Given the description of an element on the screen output the (x, y) to click on. 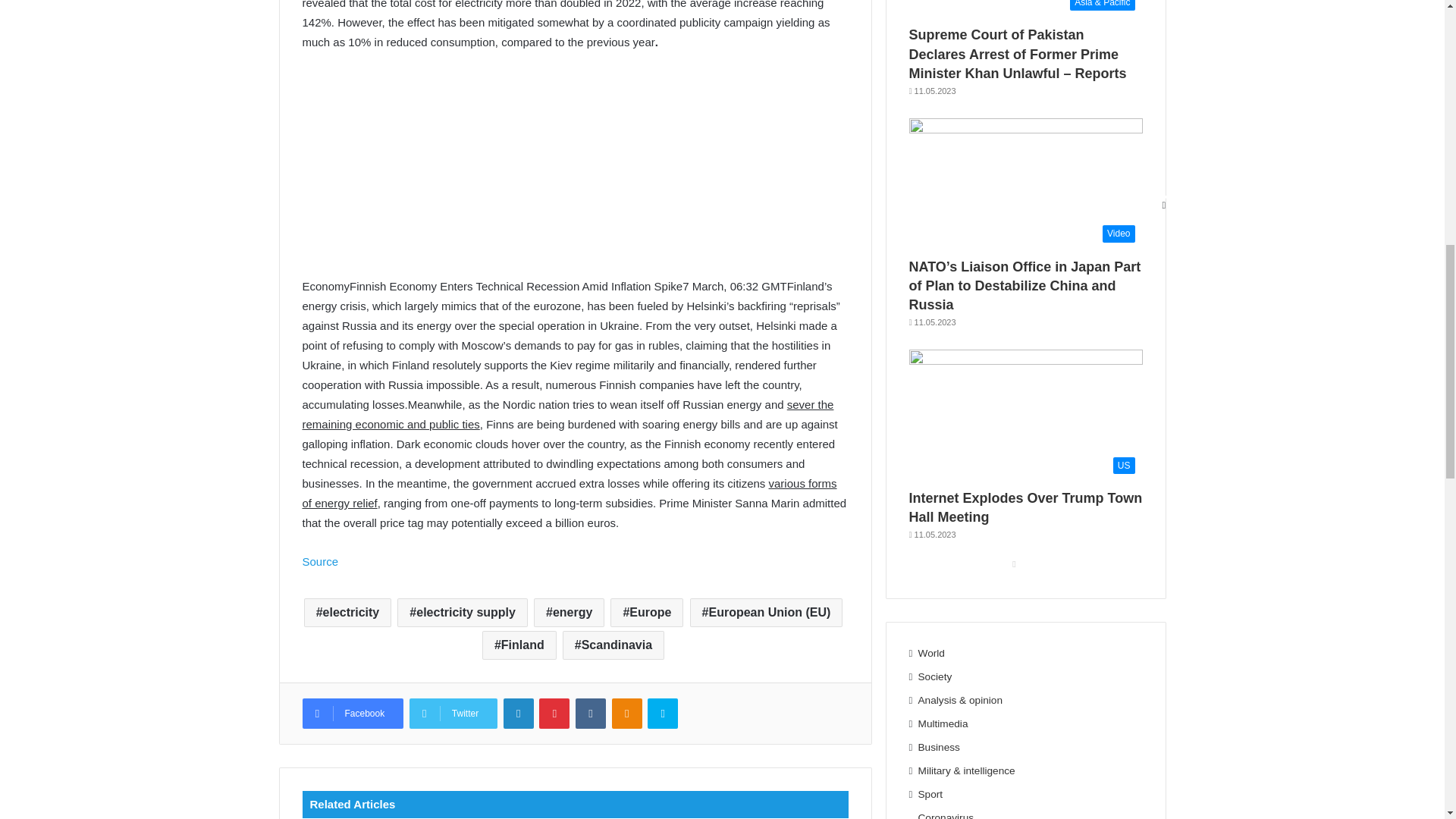
Facebook (352, 713)
Pinterest (553, 713)
Skype (662, 713)
VKontakte (590, 713)
Euro currency (574, 161)
Twitter (453, 713)
Odnoklassniki (626, 713)
LinkedIn (518, 713)
